Given the description of an element on the screen output the (x, y) to click on. 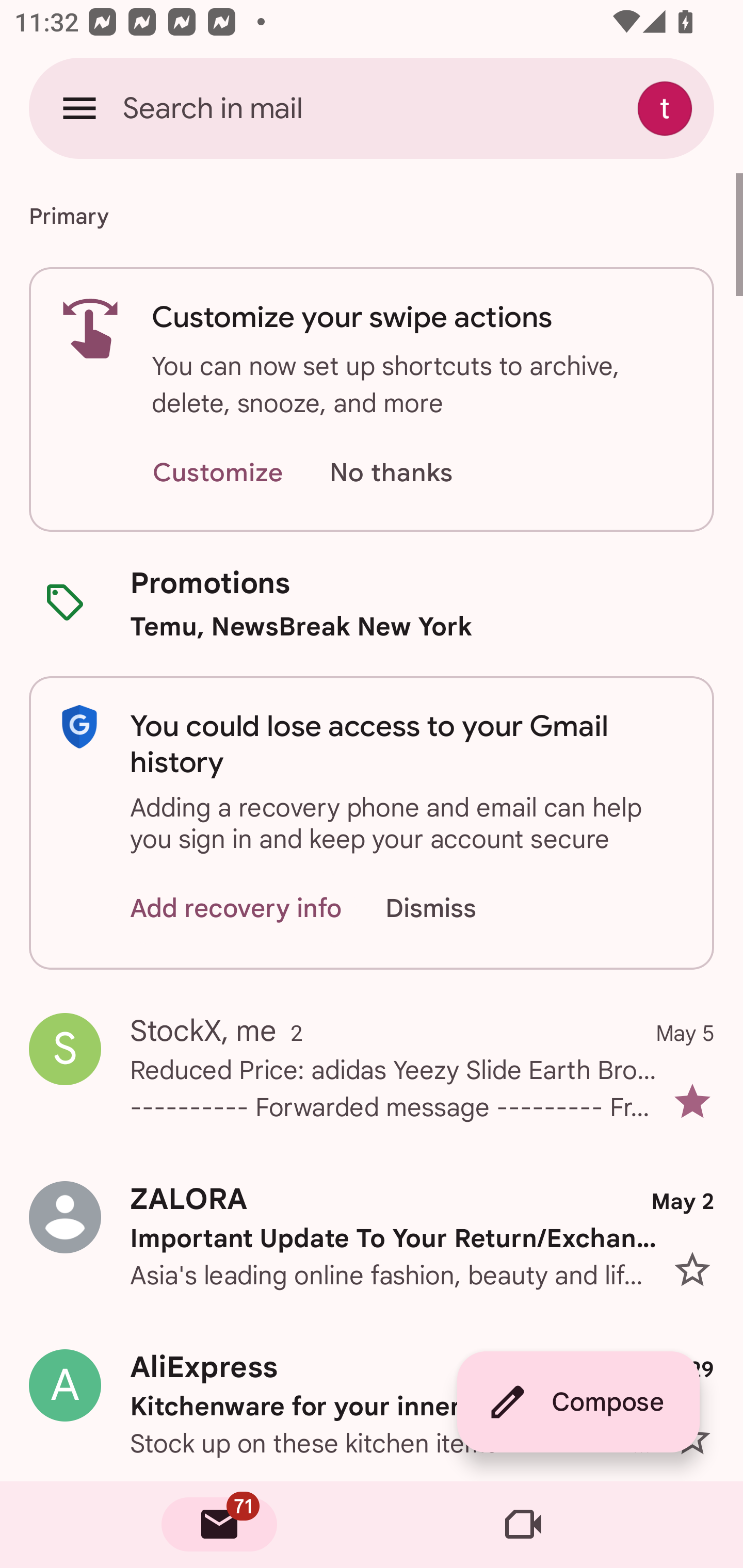
Open navigation drawer (79, 108)
Customize (217, 473)
No thanks (390, 473)
Promotions Temu, NewsBreak New York (371, 603)
Add recovery info (235, 908)
Dismiss (449, 908)
Compose (577, 1401)
Meet (523, 1524)
